Given the description of an element on the screen output the (x, y) to click on. 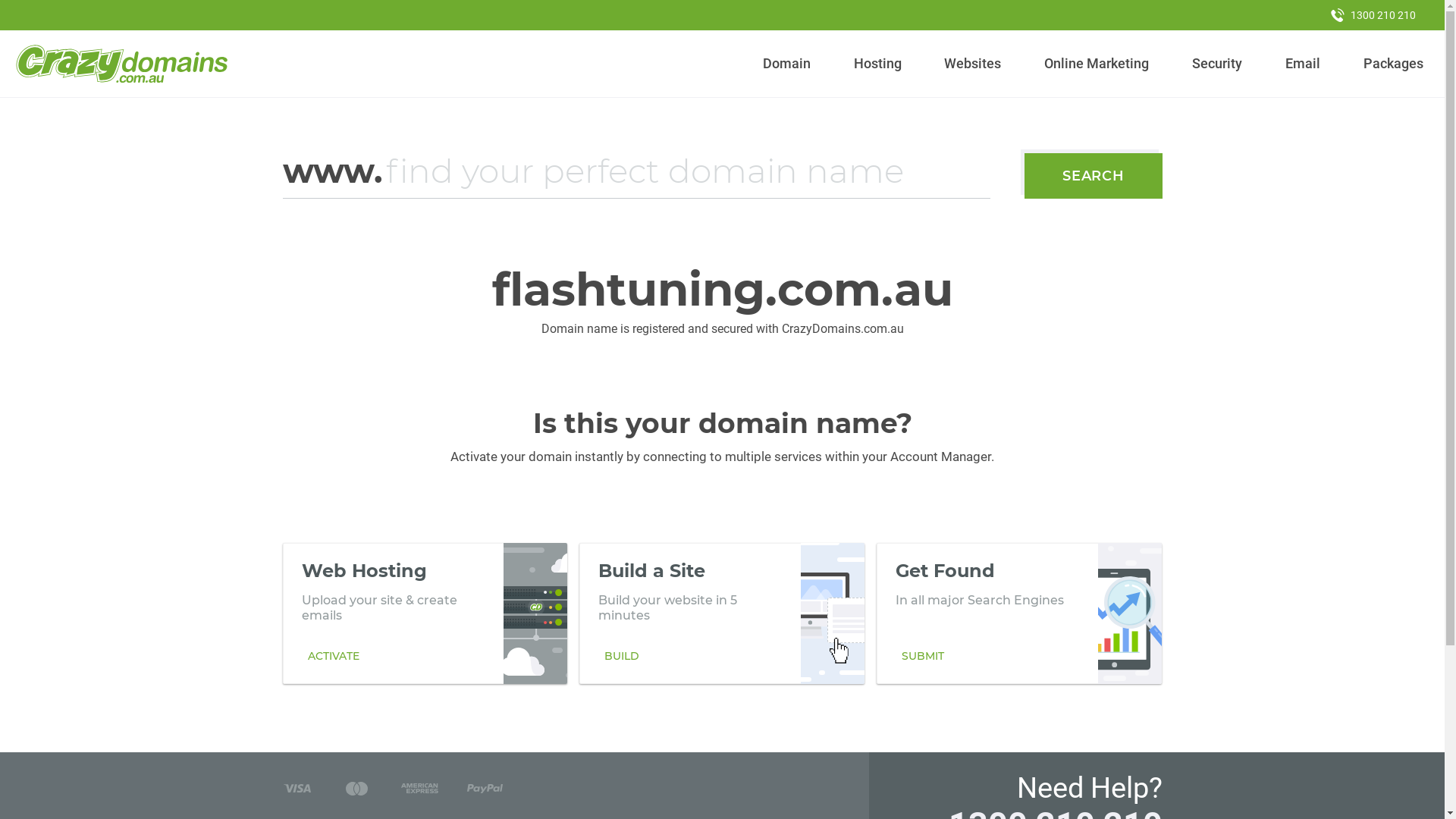
Build a Site
Build your website in 5 minutes
BUILD Element type: text (721, 613)
Hosting Element type: text (877, 63)
Domain Element type: text (786, 63)
1300 210 210 Element type: text (1373, 15)
Email Element type: text (1302, 63)
Web Hosting
Upload your site & create emails
ACTIVATE Element type: text (424, 613)
Websites Element type: text (972, 63)
Packages Element type: text (1392, 63)
Online Marketing Element type: text (1096, 63)
SEARCH Element type: text (1092, 175)
Security Element type: text (1217, 63)
Get Found
In all major Search Engines
SUBMIT Element type: text (1018, 613)
